Given the description of an element on the screen output the (x, y) to click on. 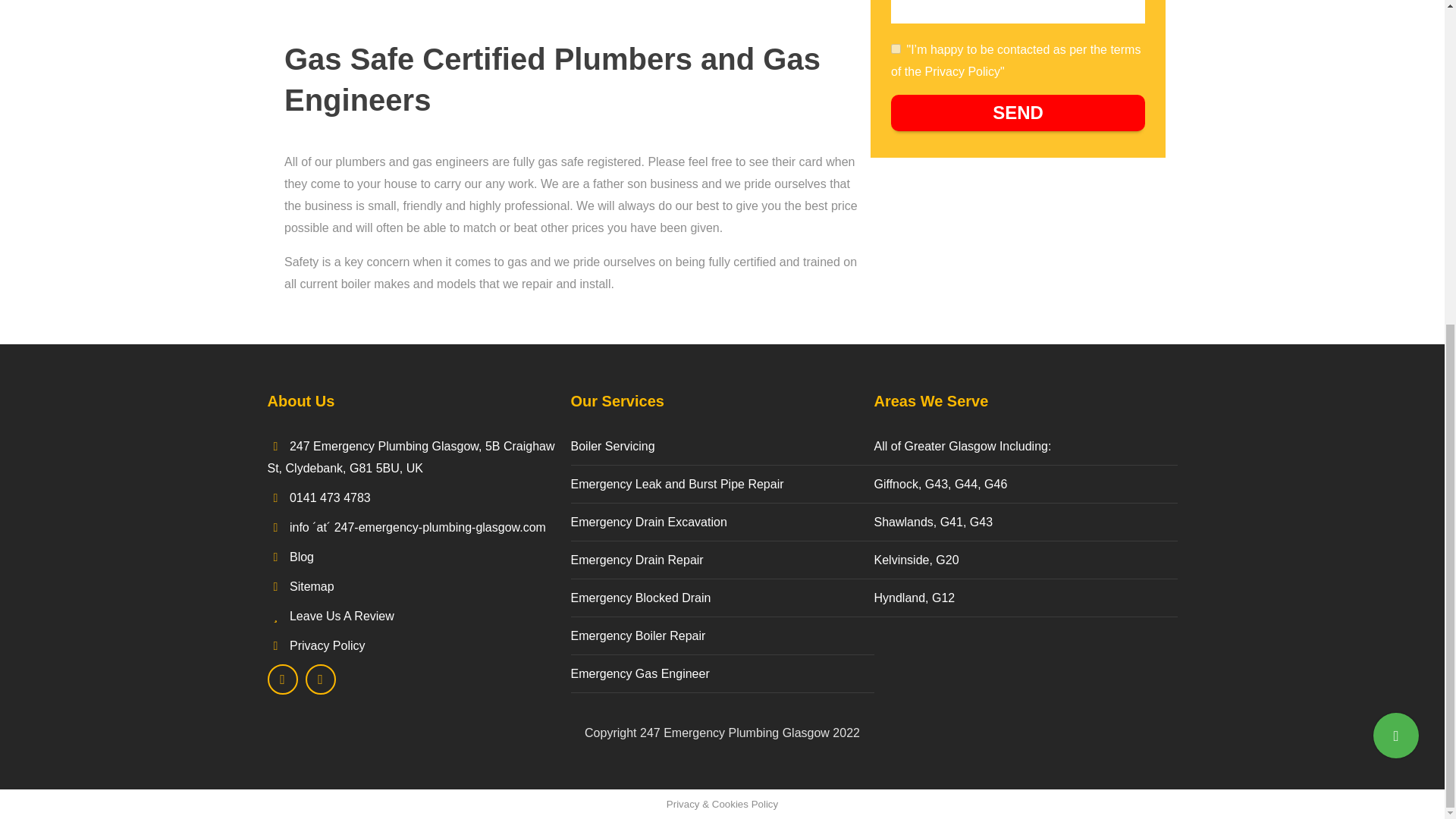
Send (1017, 113)
Blog (301, 556)
Send (1017, 113)
1 (896, 49)
Emergency Gas Engineer (718, 673)
Emergency Drain Repair (718, 559)
Leave Us A Review (341, 615)
Emergency Boiler Repair (718, 635)
Kelvinside, G20 (1021, 559)
All of Greater Glasgow Including: (1021, 445)
